Given the description of an element on the screen output the (x, y) to click on. 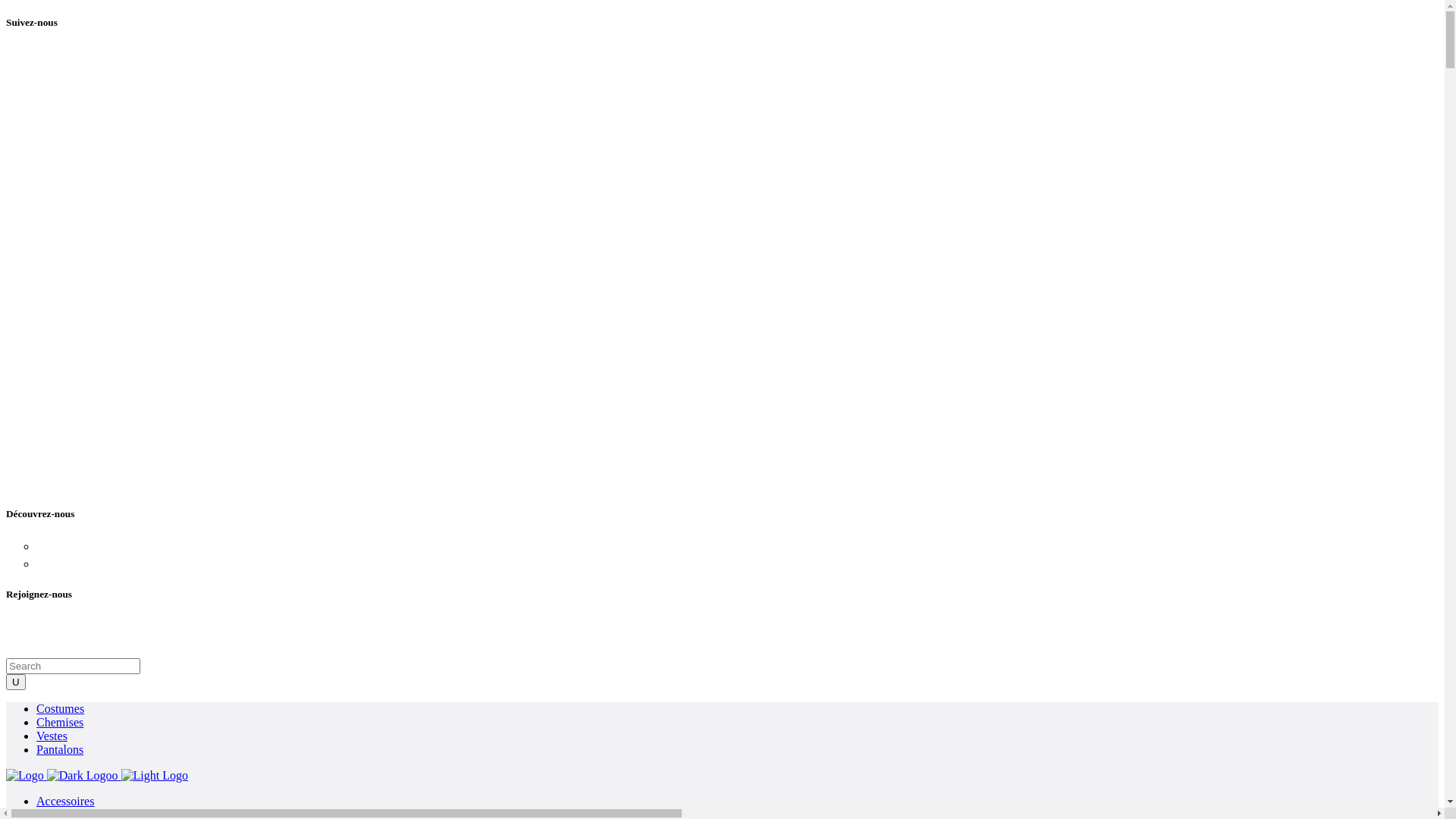
Costumes Element type: text (60, 708)
Pantalons Element type: text (59, 749)
Prendre rendez-vous Element type: text (103, 562)
Accessoires Element type: text (65, 800)
U Element type: text (15, 682)
Vestes Element type: text (51, 735)
Chemises Element type: text (59, 721)
Nos services Element type: text (75, 544)
